Given the description of an element on the screen output the (x, y) to click on. 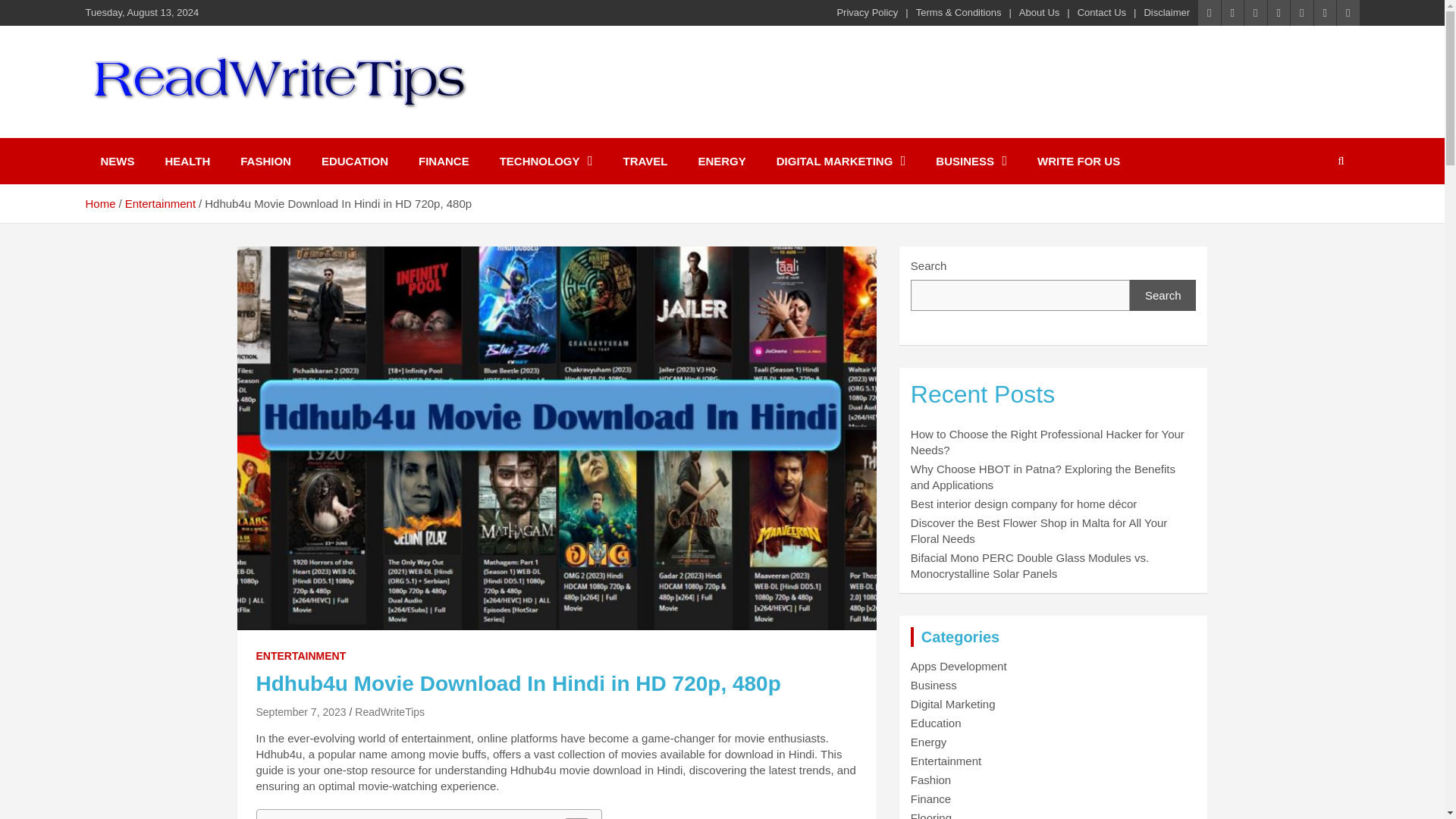
Disclaimer (1165, 12)
FASHION (265, 161)
HEALTH (187, 161)
Home (99, 203)
NEWS (116, 161)
ENTERTAINMENT (301, 656)
Privacy Policy (866, 12)
About Us (1039, 12)
WRITE FOR US (1078, 161)
TRAVEL (644, 161)
